Given the description of an element on the screen output the (x, y) to click on. 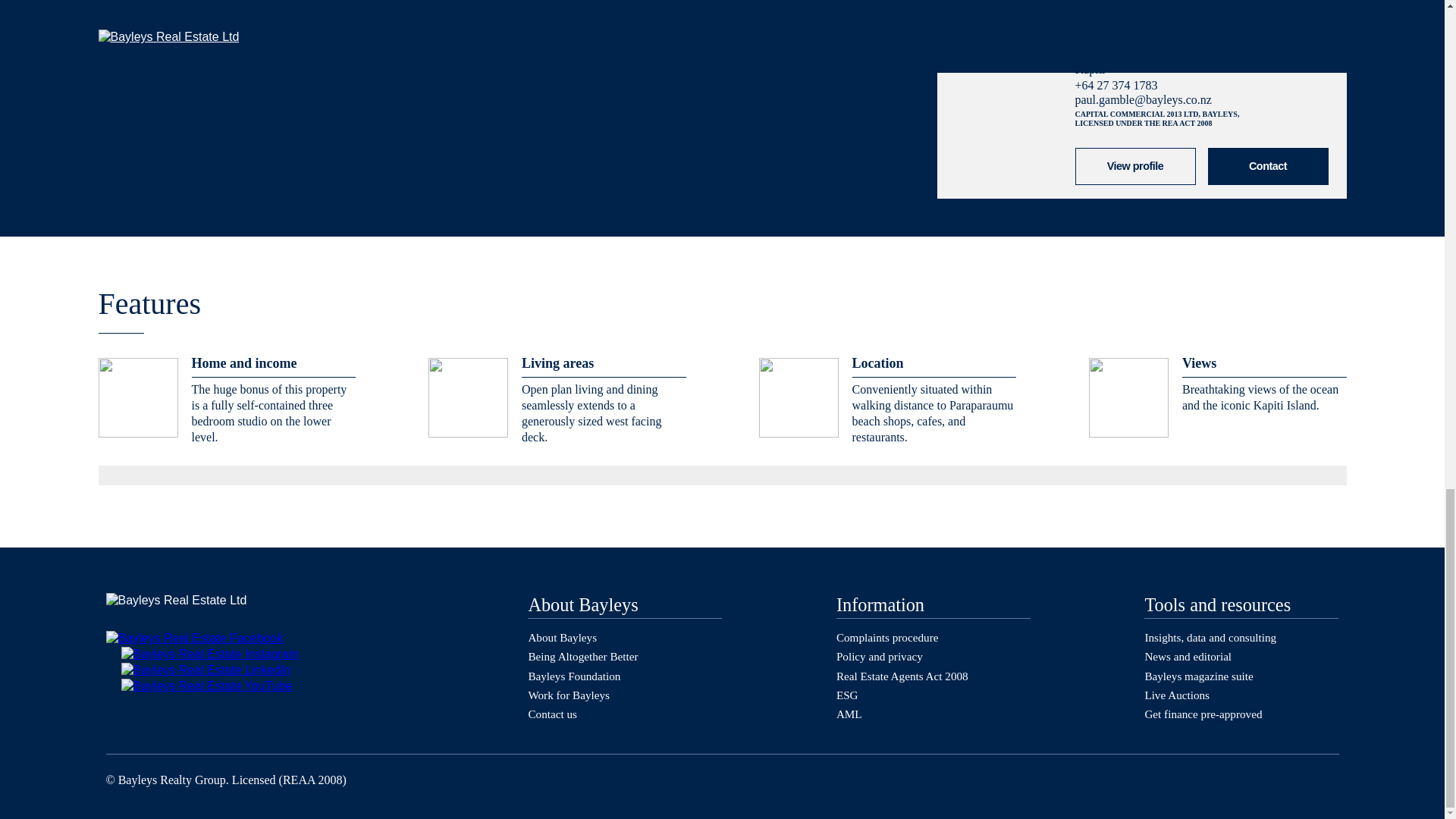
Complaints procedure (887, 636)
Paul Gamble (1135, 164)
Kapiti (1090, 69)
Contact (1267, 166)
View profile (1135, 166)
View profile (1135, 164)
Kapiti (1090, 69)
Being Altogether Better (582, 656)
Contact us (551, 713)
About Bayleys (561, 636)
